Given the description of an element on the screen output the (x, y) to click on. 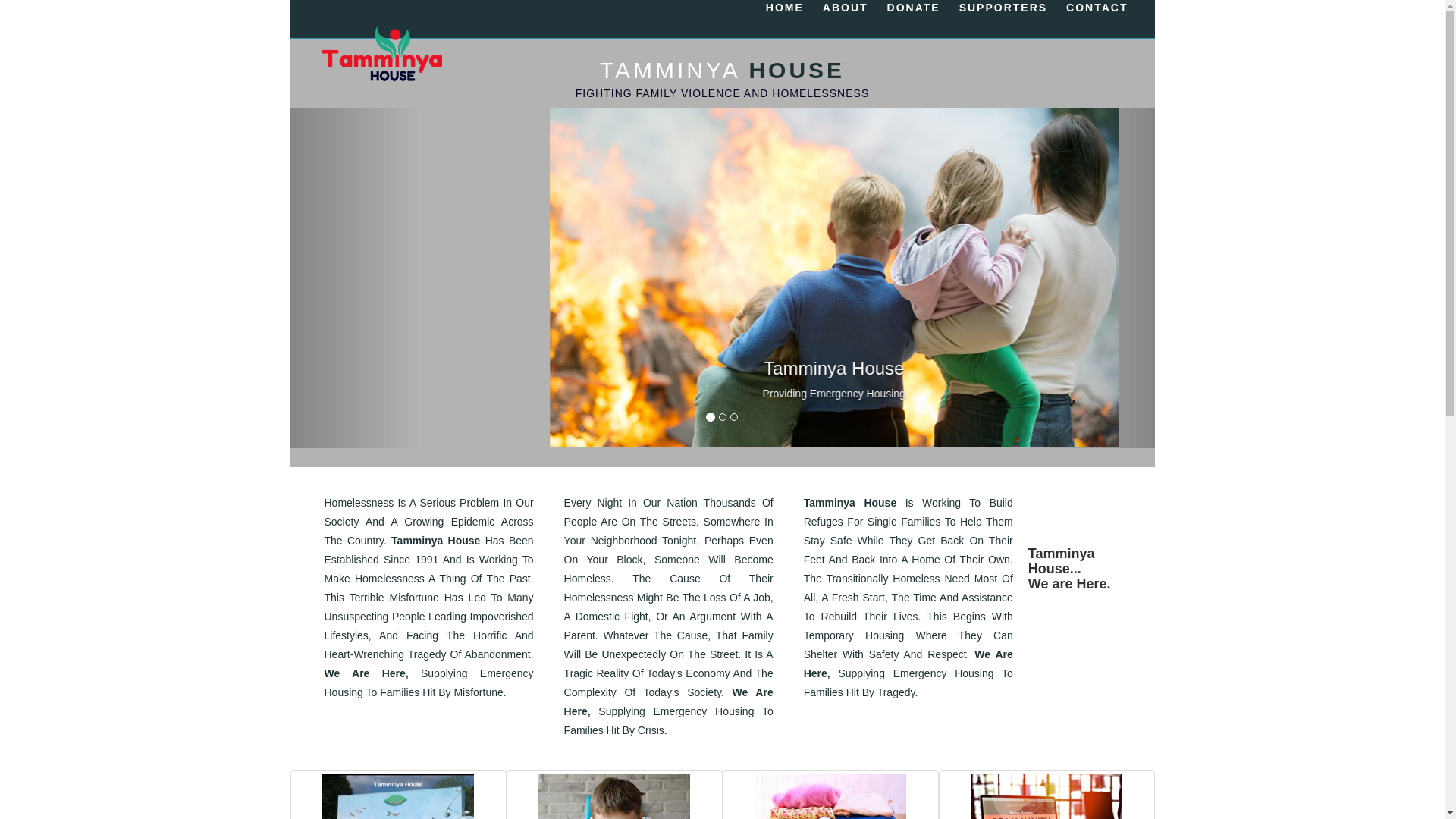
Next Element type: text (1089, 277)
HOME Element type: text (784, 7)
ABOUT Element type: text (845, 7)
CONTACT Element type: text (1096, 7)
DONATE Element type: text (913, 7)
SUPPORTERS Element type: text (1003, 7)
Previous Element type: text (354, 277)
